Given the description of an element on the screen output the (x, y) to click on. 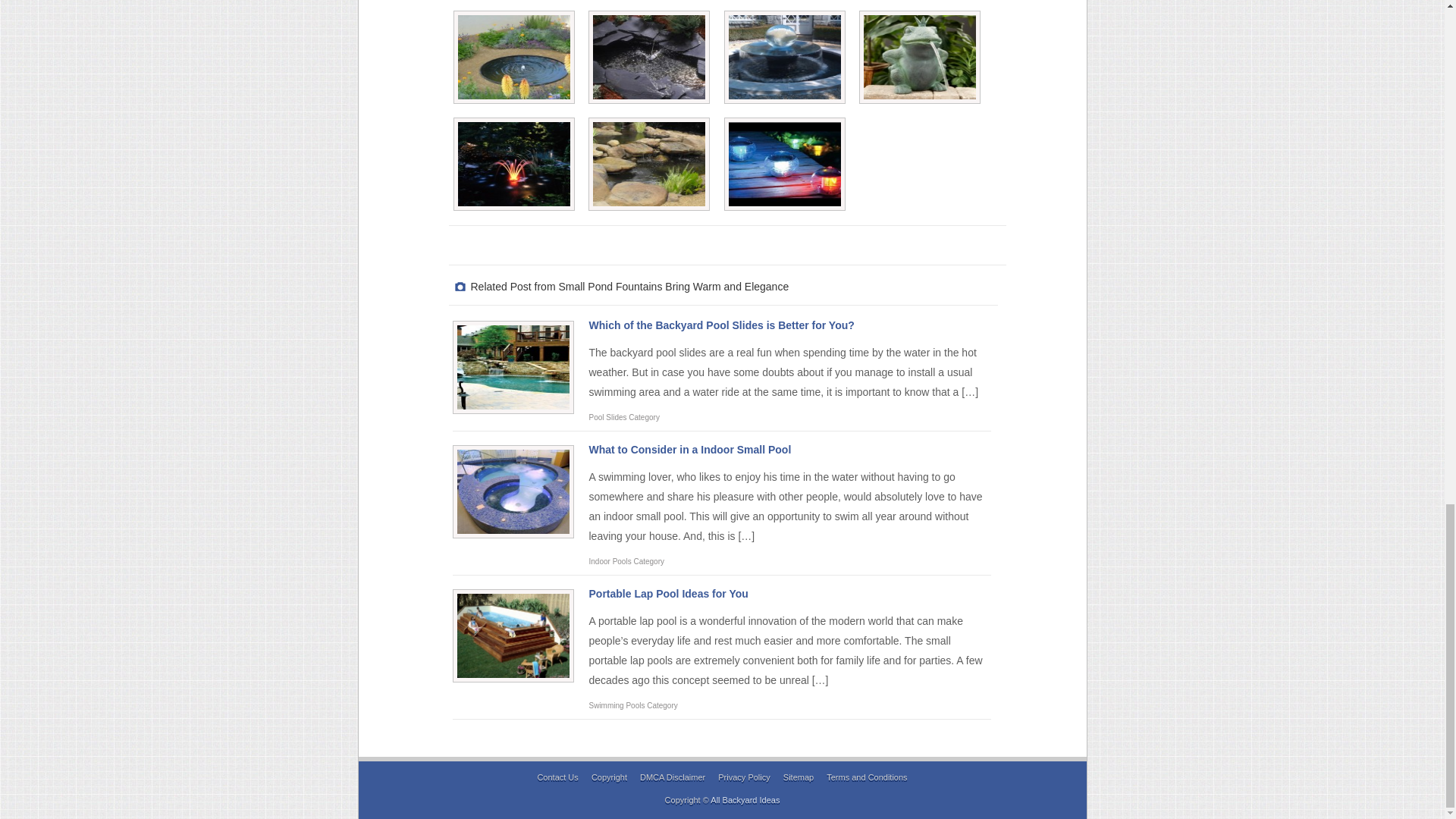
Which of the Backyard Pool Slides is Better for You? (720, 325)
Portable Lap Pool Ideas for You (668, 593)
What to Consider in a Indoor Small Pool (689, 449)
